Given the description of an element on the screen output the (x, y) to click on. 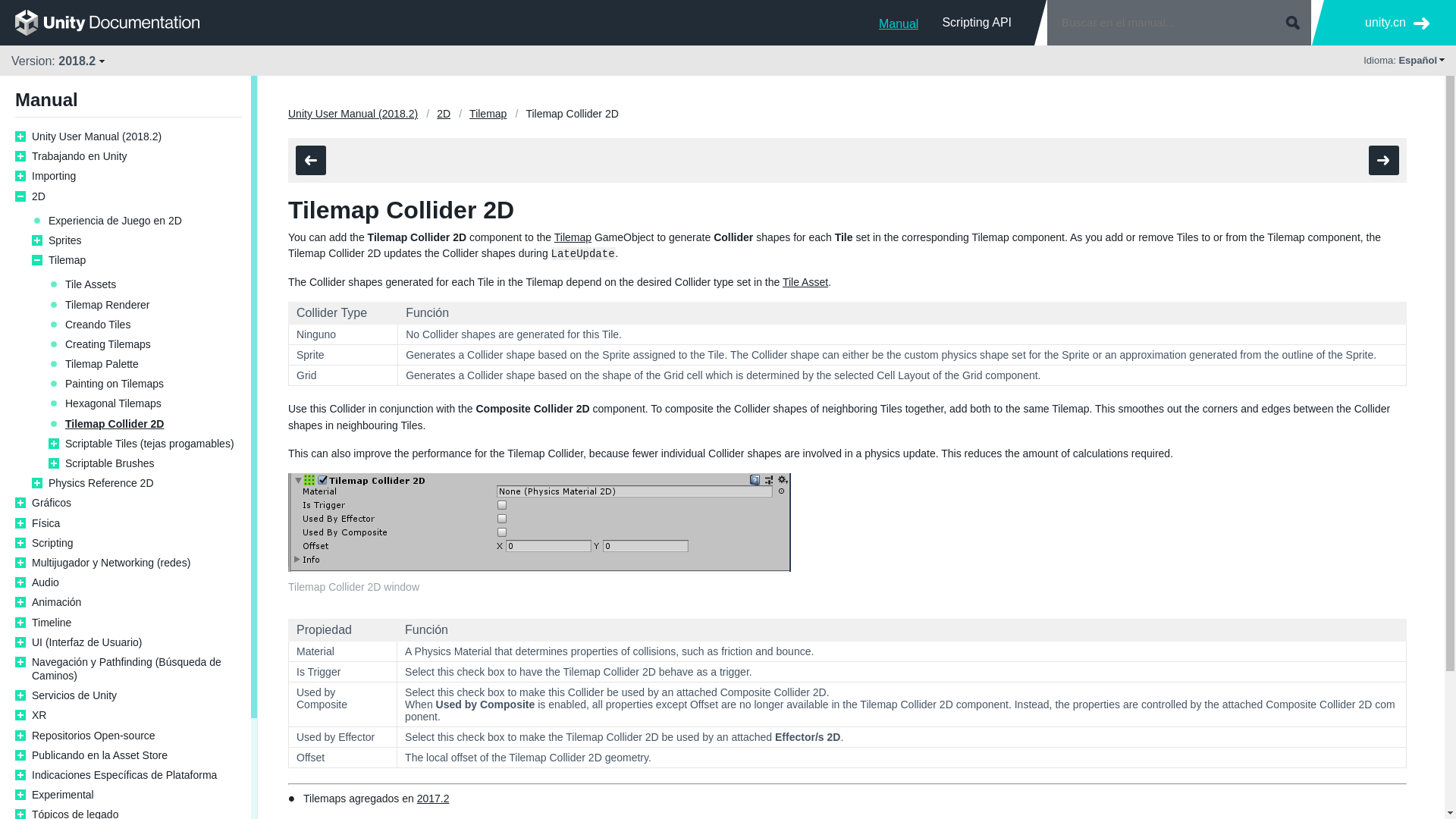
Scripting API (976, 22)
Manual (898, 22)
unity.cn (1397, 22)
